Given the description of an element on the screen output the (x, y) to click on. 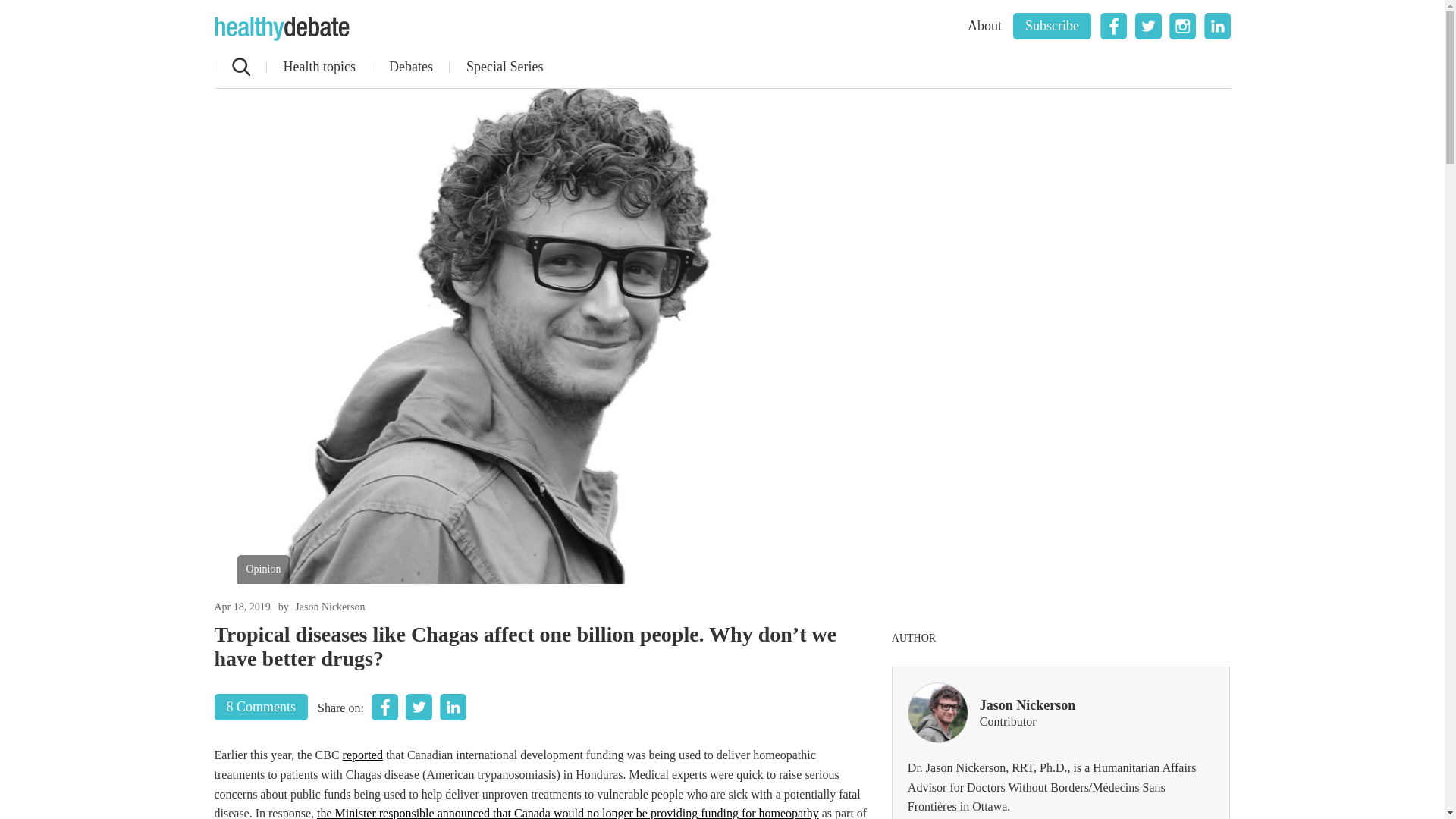
Subscribe (1051, 26)
Special Series (504, 67)
Jason Nickerson (330, 606)
8 Comments (260, 706)
Health topics (318, 67)
Healthy Debate (281, 28)
Debates (410, 67)
Healthy Debate (281, 28)
About (984, 25)
